Given the description of an element on the screen output the (x, y) to click on. 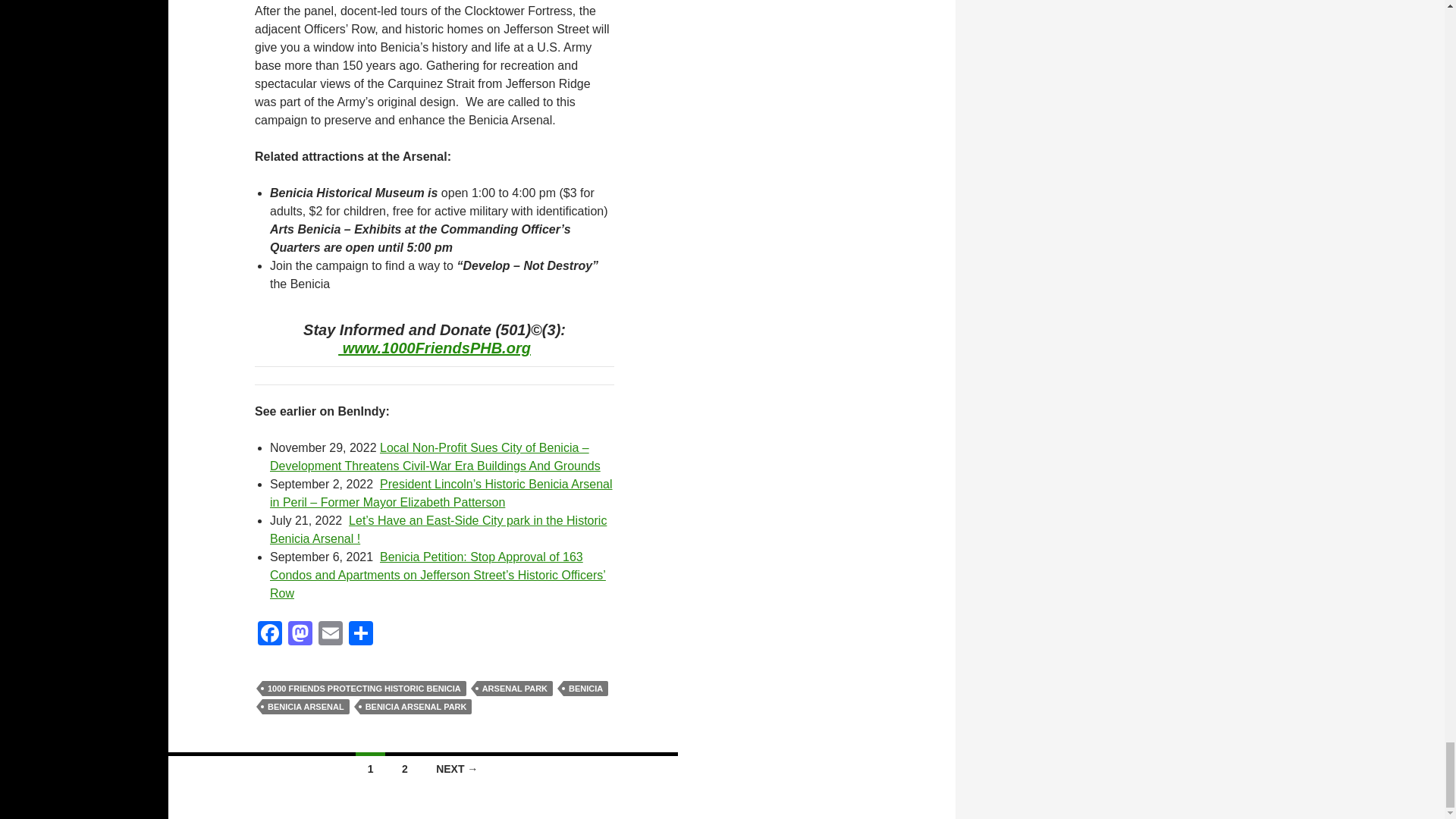
Facebook (269, 634)
Email (330, 634)
Mastodon (300, 634)
